Given the description of an element on the screen output the (x, y) to click on. 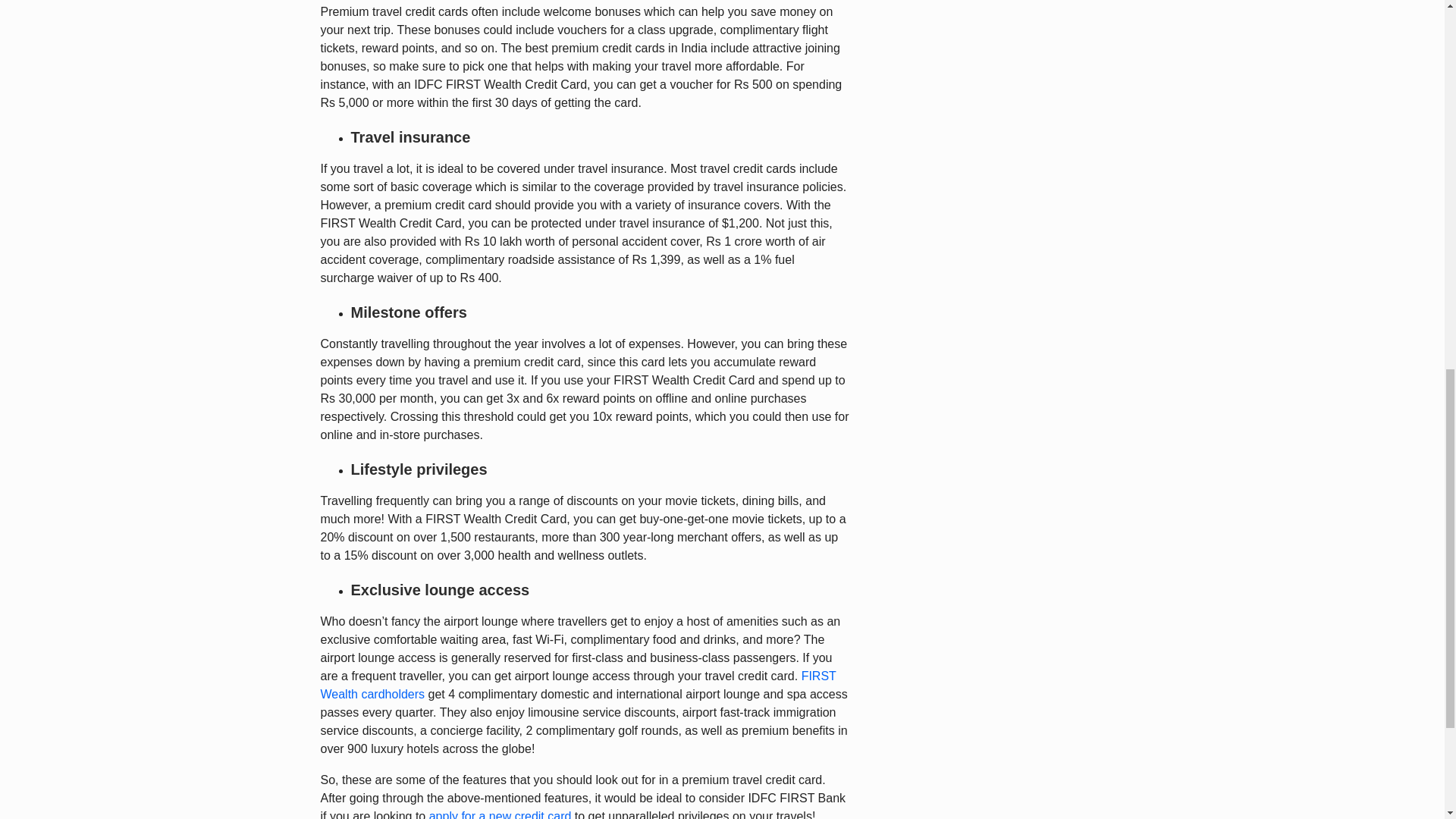
FIRST Wealth cardholders (577, 685)
apply for a new credit card (500, 814)
